Given the description of an element on the screen output the (x, y) to click on. 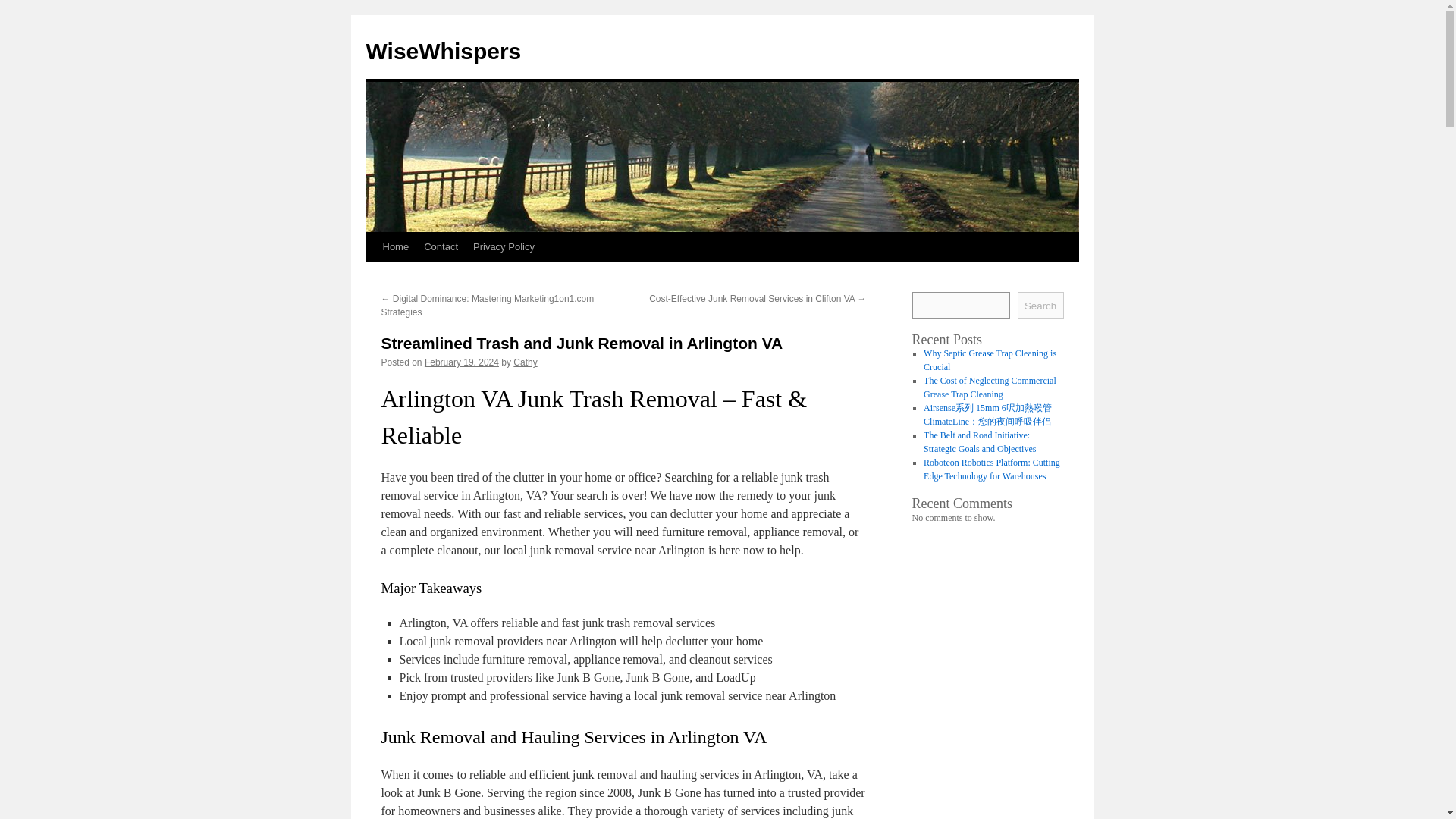
Contact (440, 246)
February 19, 2024 (462, 362)
WiseWhispers (443, 50)
The Cost of Neglecting Commercial Grease Trap Cleaning (990, 469)
Choosing the Right Frequency for Septic Tank Cleaning (985, 387)
Why Septic Grease Trap Cleaning is Crucial (990, 441)
View all posts by Cathy (525, 362)
Search (1040, 305)
Expert AC Installation Services in Beverly Hills (985, 360)
Cathy (525, 362)
7:27 pm (462, 362)
Privacy Policy (503, 246)
Home (395, 246)
How to Tell If Your Grease Trap Needs Cleaning (982, 414)
